Given the description of an element on the screen output the (x, y) to click on. 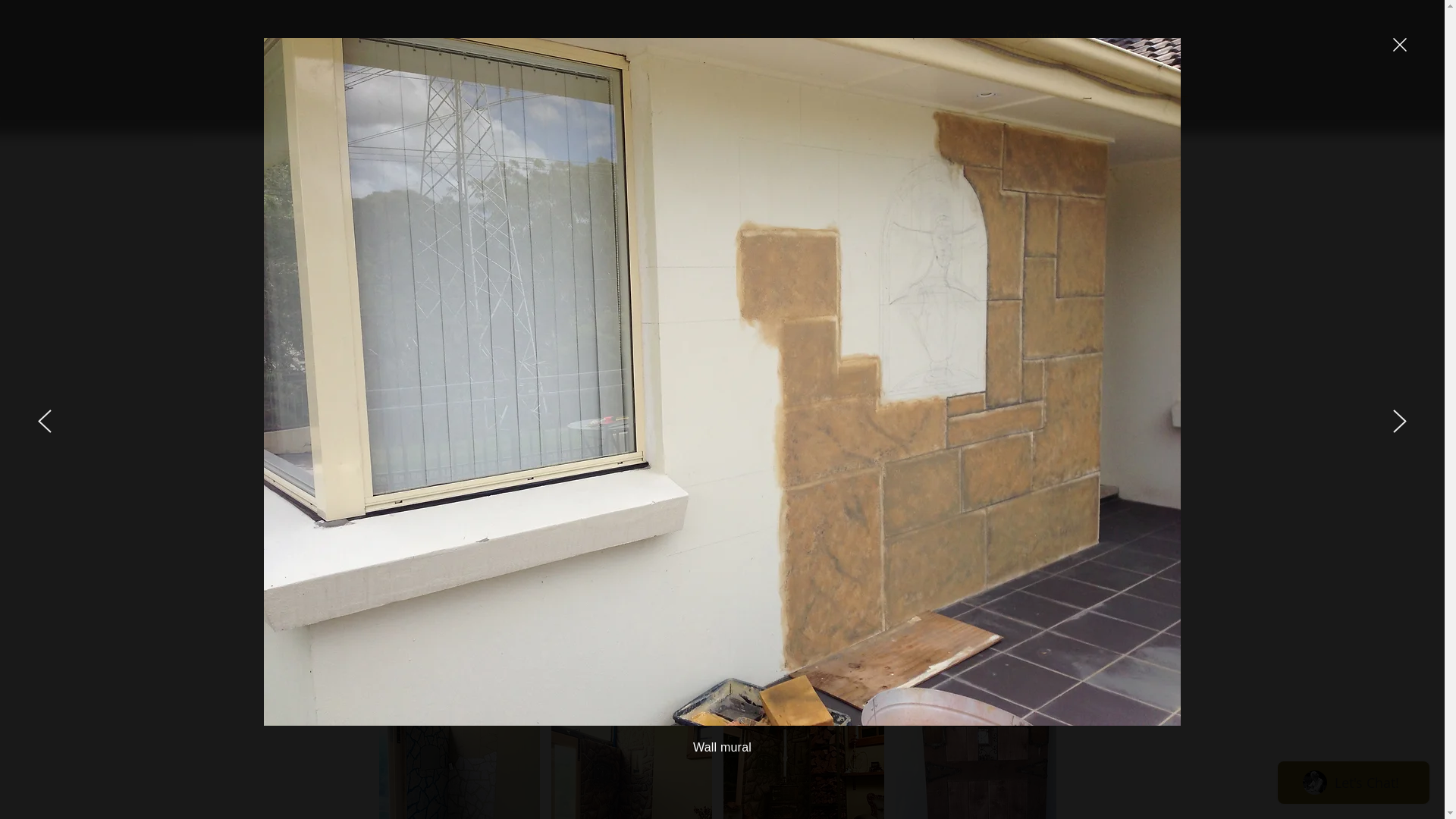
iRTV Element type: text (722, 99)
BIO Element type: text (393, 99)
POEMS Element type: text (502, 99)
HOME Element type: text (282, 99)
MR LION Element type: text (1052, 99)
ART Element type: text (613, 99)
STICKS Element type: text (833, 99)
Halim J Mouawad Element type: text (717, 46)
CONTACT Element type: text (1162, 99)
Mouawad crest.png Element type: hover (454, 178)
PHOTOGRAPHY Element type: text (942, 99)
